Given the description of an element on the screen output the (x, y) to click on. 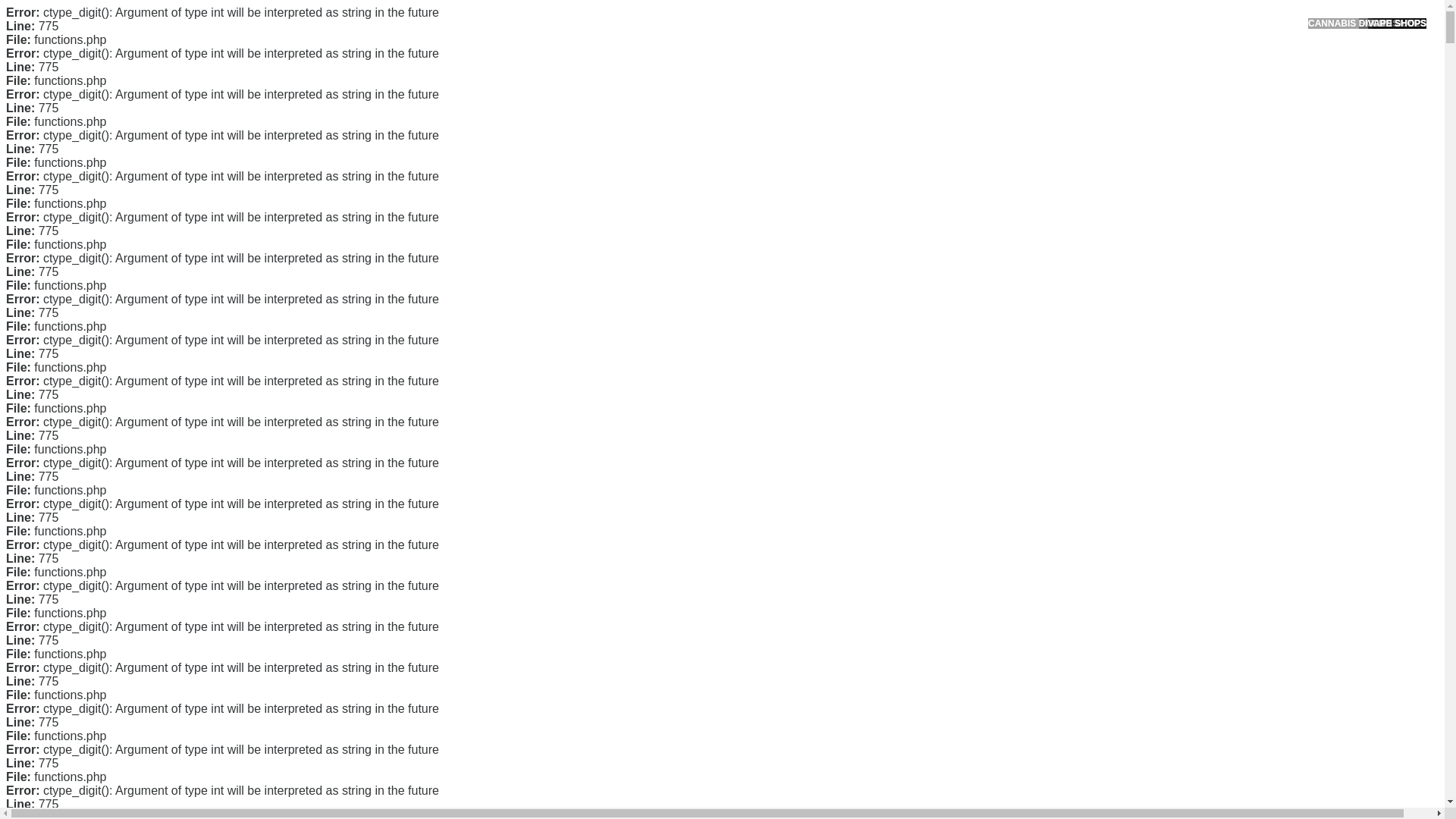
find out here (360, 447)
Search (1050, 85)
details (692, 644)
Disclaimer (990, 354)
ADMINISTRATOR (417, 118)
you can check here (599, 393)
DMCA Policy (996, 282)
RSS (977, 612)
Search (1050, 85)
Search (1050, 85)
Search for: (1049, 47)
Log in (980, 588)
Latest Article (996, 172)
August 2020 (996, 432)
Blog (976, 510)
